Given the description of an element on the screen output the (x, y) to click on. 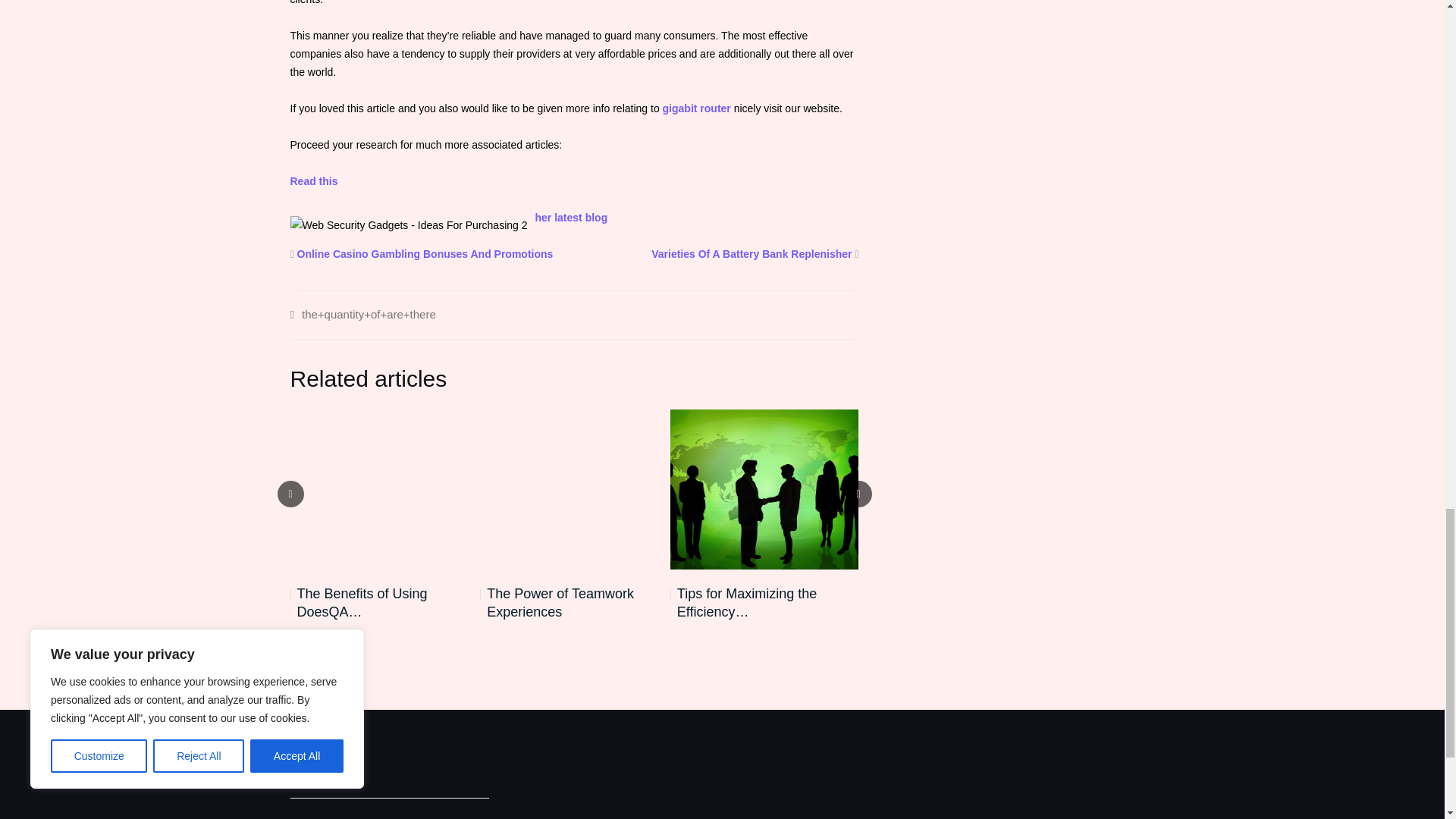
her latest blog (571, 216)
gigabit router (696, 107)
Read this (313, 180)
The Power of Teamwork Experiences (574, 602)
Varieties Of A Battery Bank Replenisher (750, 253)
Online Casino Gambling Bonuses And Promotions (425, 253)
